Given the description of an element on the screen output the (x, y) to click on. 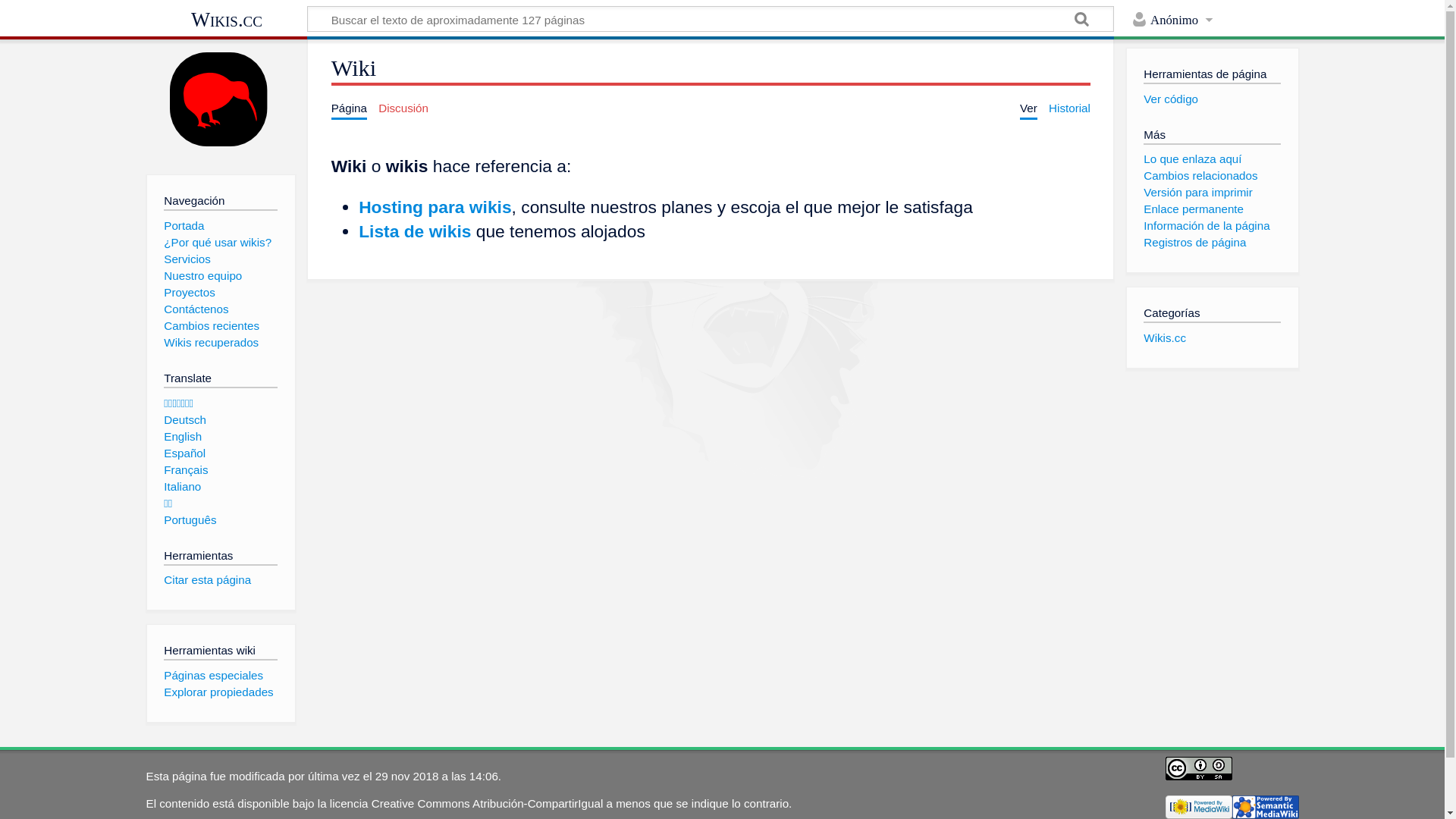
Enlace permanente Element type: text (1193, 208)
Buscar en Wikis.cc [alt-shift-f] Element type: hover (710, 18)
Hosting para wikis Element type: text (434, 206)
Cambios relacionados Element type: text (1200, 175)
Nuestro equipo Element type: text (202, 275)
Ver Element type: text (1028, 107)
Cambios recientes Element type: text (211, 325)
Wikis.cc Element type: text (1164, 337)
Italiano Element type: text (181, 486)
Wikis recuperados Element type: text (210, 341)
Lista de wikis Element type: text (414, 231)
Explorar propiedades Element type: text (218, 691)
Proyectos Element type: text (189, 291)
Ir Element type: text (1081, 20)
Servicios Element type: text (186, 258)
English Element type: text (182, 435)
Historial Element type: text (1069, 107)
Wikis.cc Element type: text (226, 20)
Deutsch Element type: text (184, 419)
Portada Element type: text (183, 225)
